Given the description of an element on the screen output the (x, y) to click on. 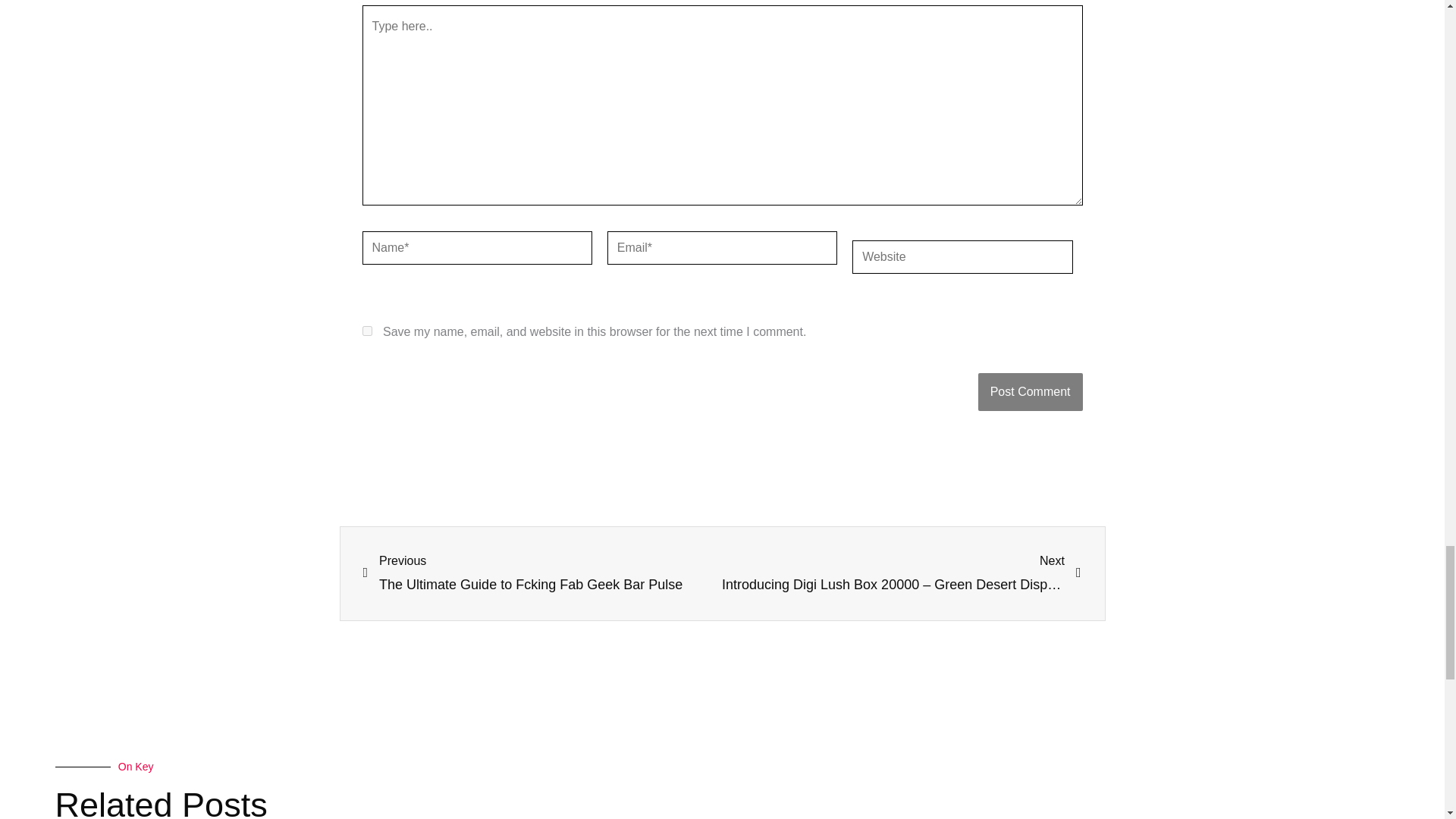
yes (367, 330)
Post Comment (1030, 391)
Post Comment (1030, 391)
